Given the description of an element on the screen output the (x, y) to click on. 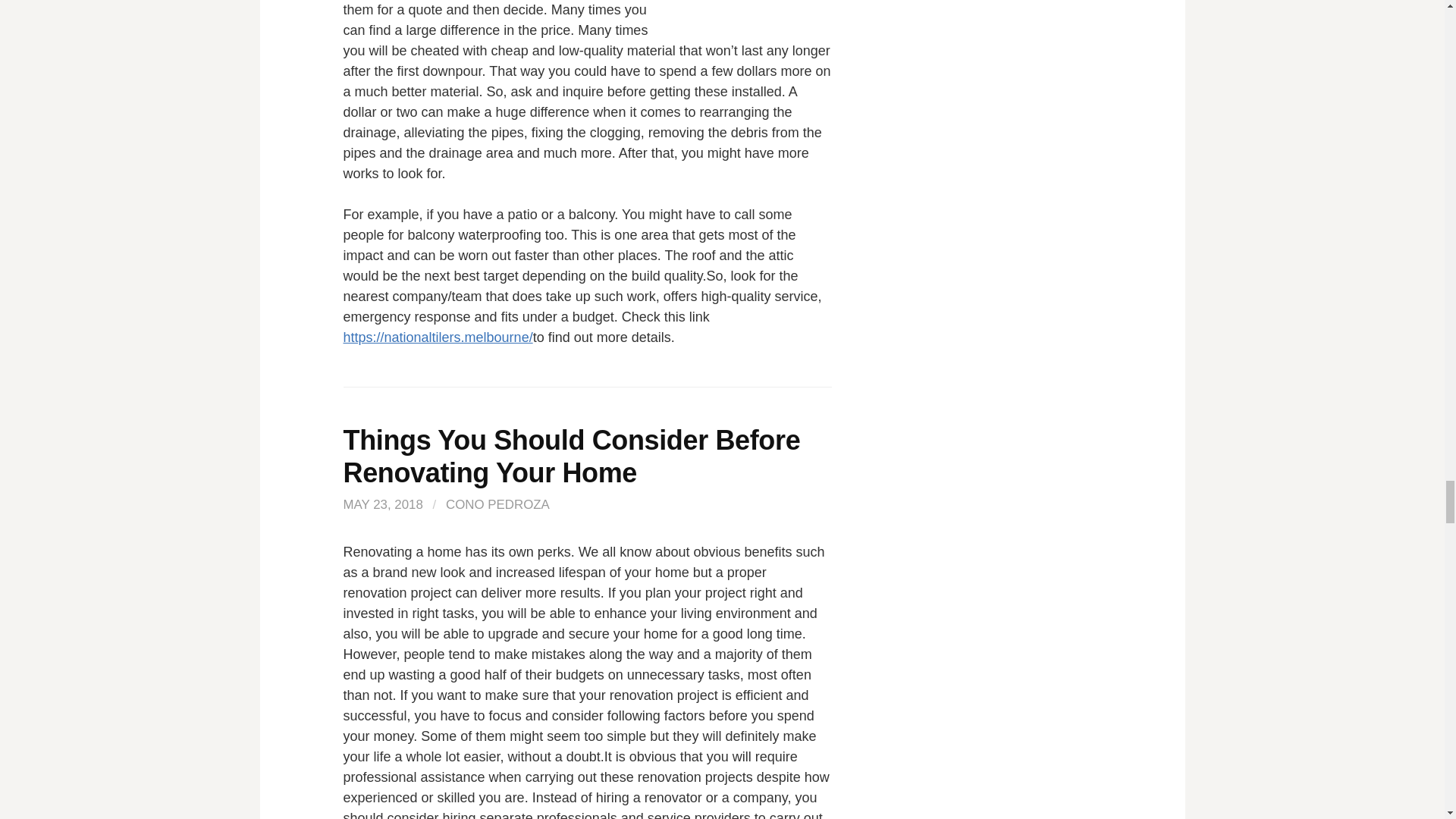
water leak.jpg (740, 16)
